Given the description of an element on the screen output the (x, y) to click on. 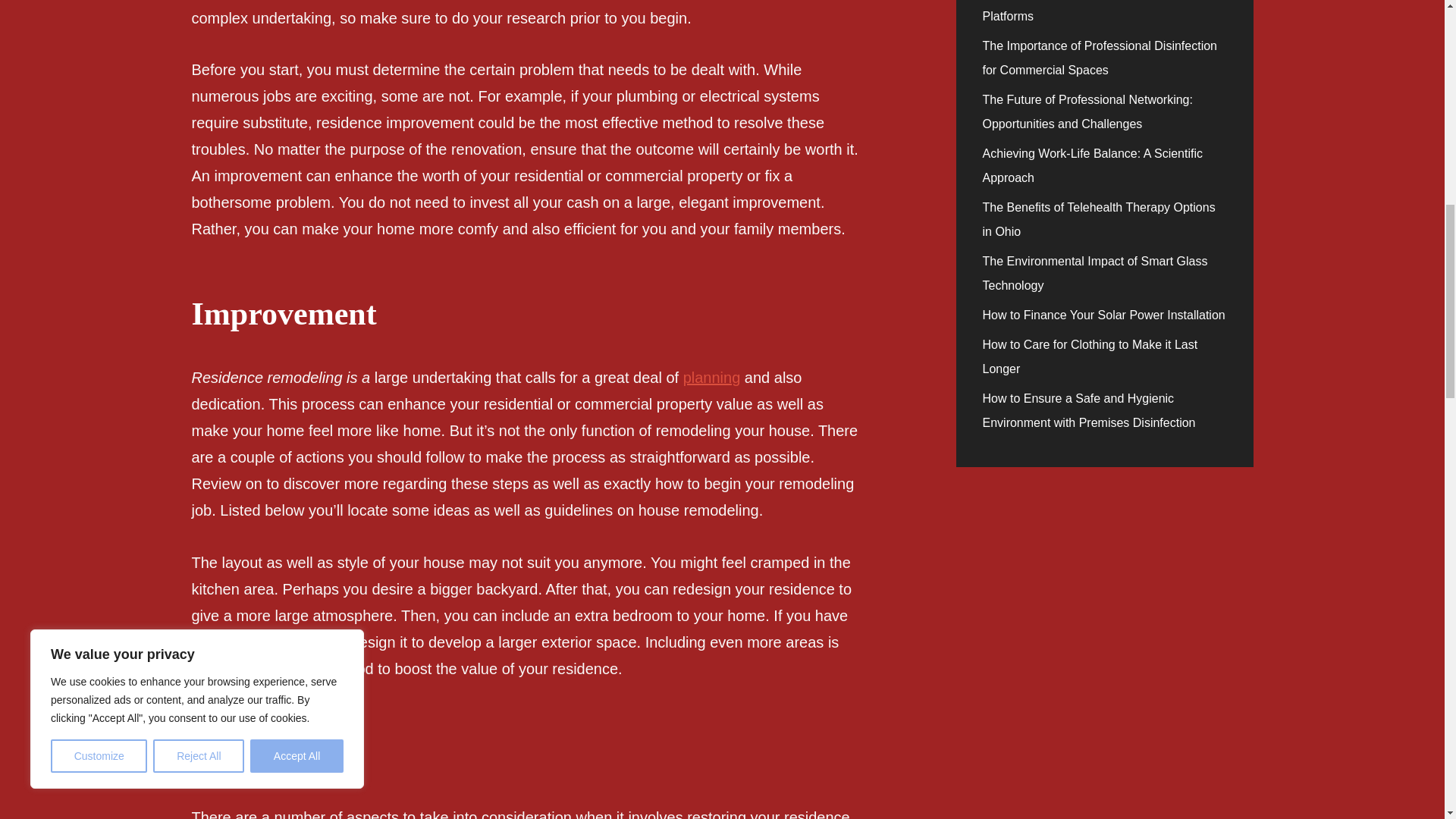
Ensuring the Legitimacy of Online Gambling Platforms (1101, 11)
planning (711, 377)
additionally (228, 668)
